Given the description of an element on the screen output the (x, y) to click on. 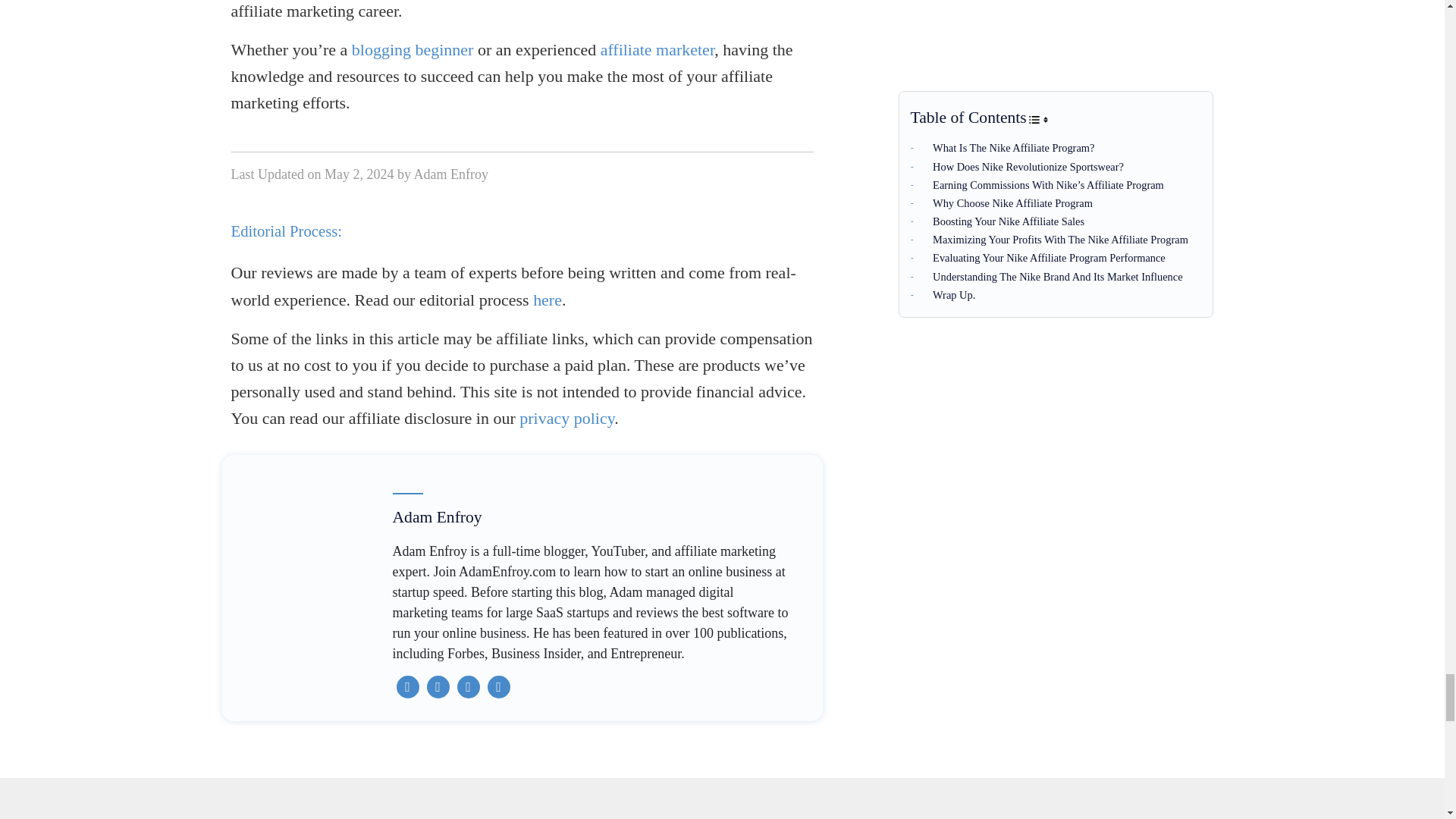
affiliate marketer (656, 49)
blogging beginner (413, 49)
privacy policy (566, 417)
here (547, 299)
